Given the description of an element on the screen output the (x, y) to click on. 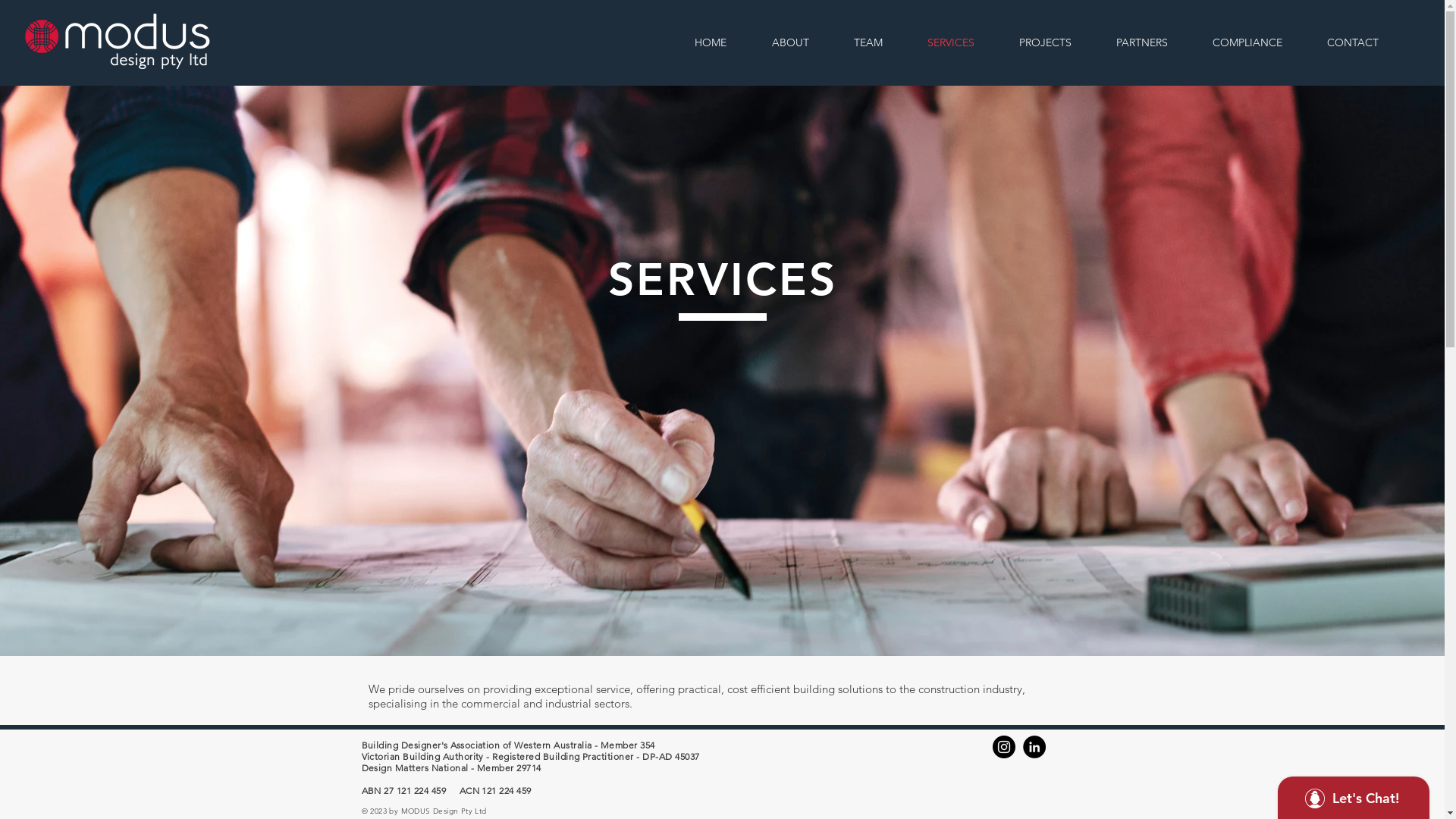
TEAM Element type: text (878, 42)
HOME Element type: text (720, 42)
ABOUT Element type: text (800, 42)
COMPLIANCE Element type: text (1258, 42)
PARTNERS Element type: text (1152, 42)
PROJECTS Element type: text (1055, 42)
SERVICES Element type: text (961, 42)
CONTACT Element type: text (1362, 42)
